Given the description of an element on the screen output the (x, y) to click on. 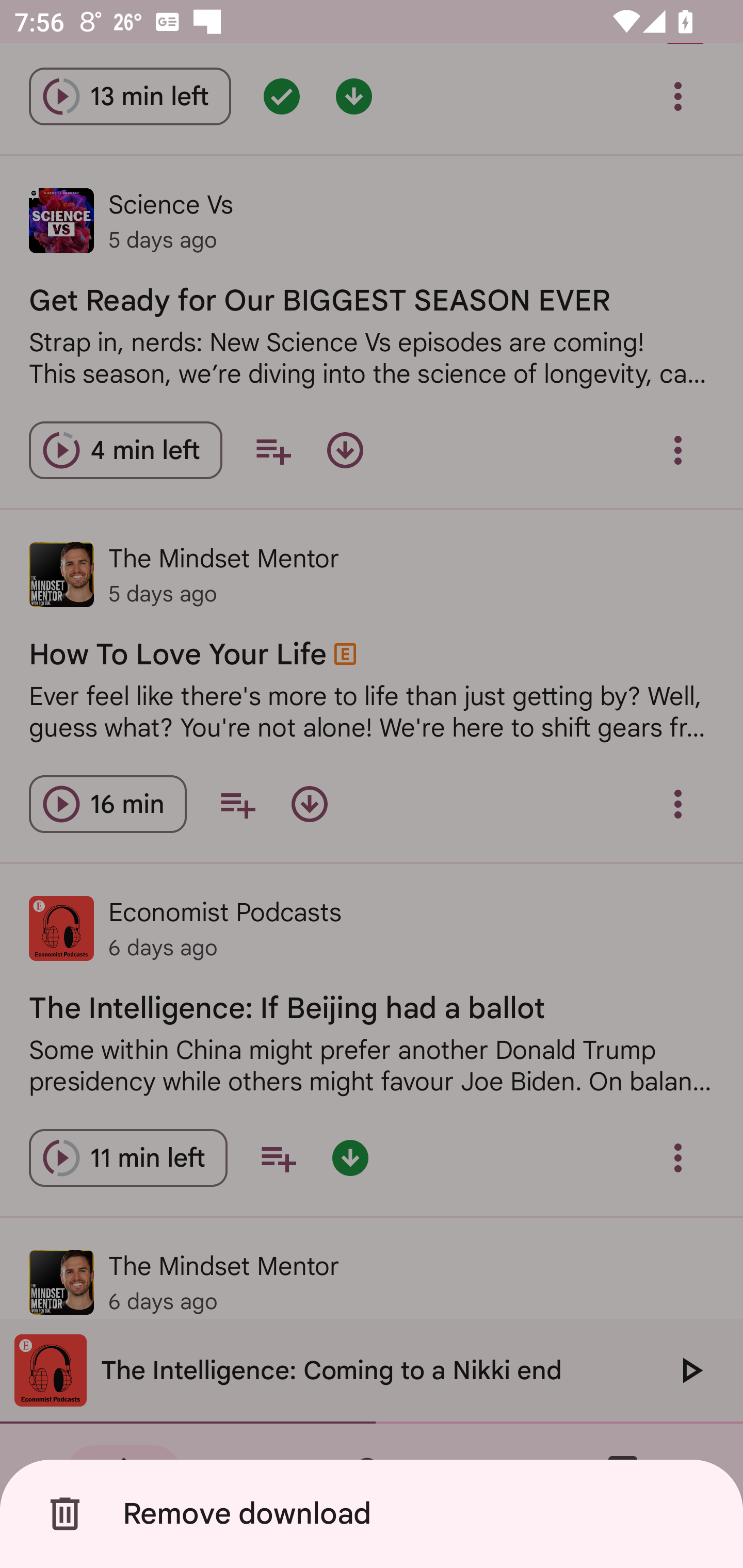
Remove download (375, 1513)
